Given the description of an element on the screen output the (x, y) to click on. 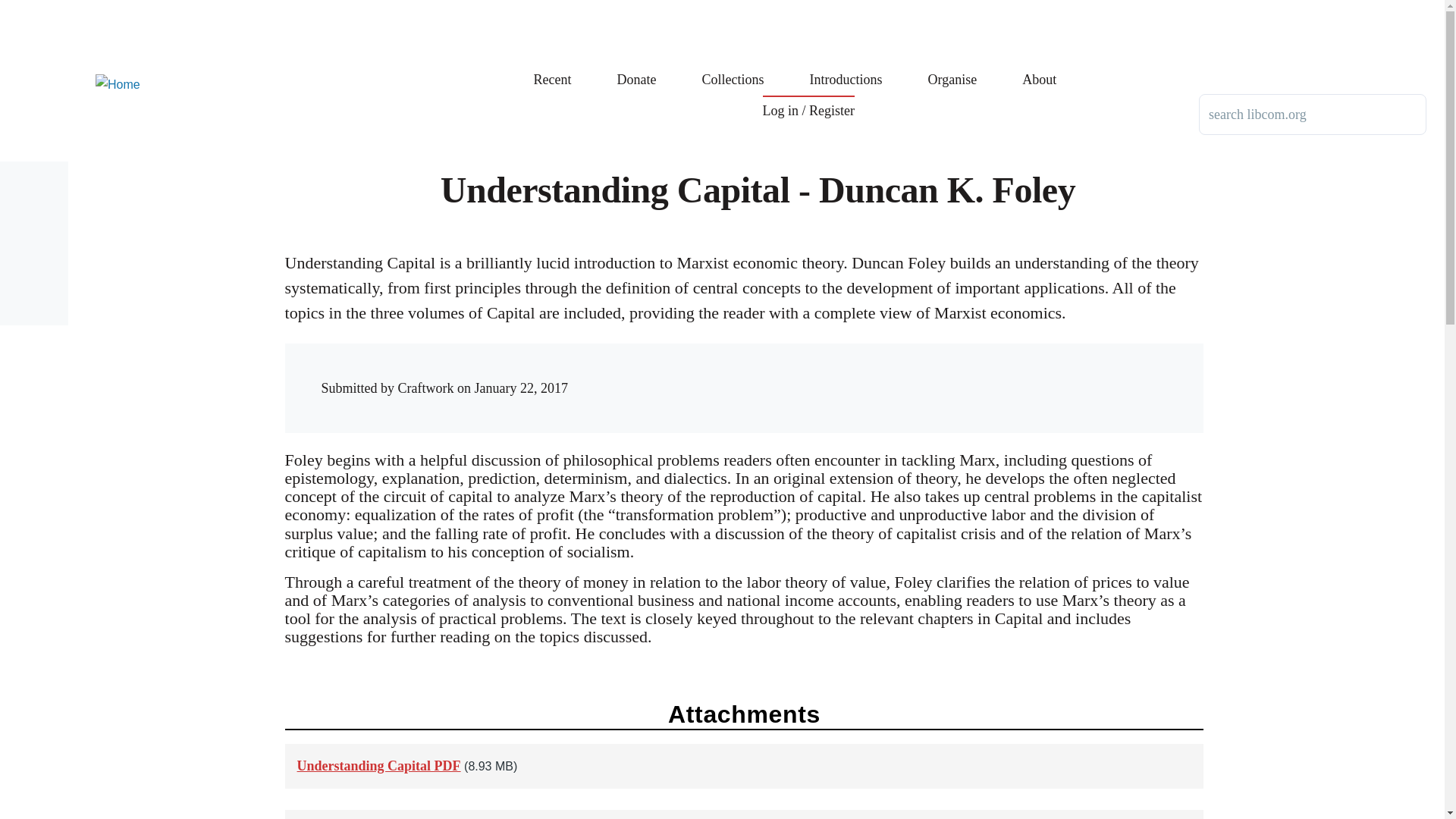
Understanding Capital PDF (379, 765)
Collections (732, 68)
Share to Twitter (945, 373)
Organise (952, 68)
Skip to main content (595, 6)
Introductions (845, 68)
Share to Reddit (975, 373)
Share to Facebook (914, 373)
